Given the description of an element on the screen output the (x, y) to click on. 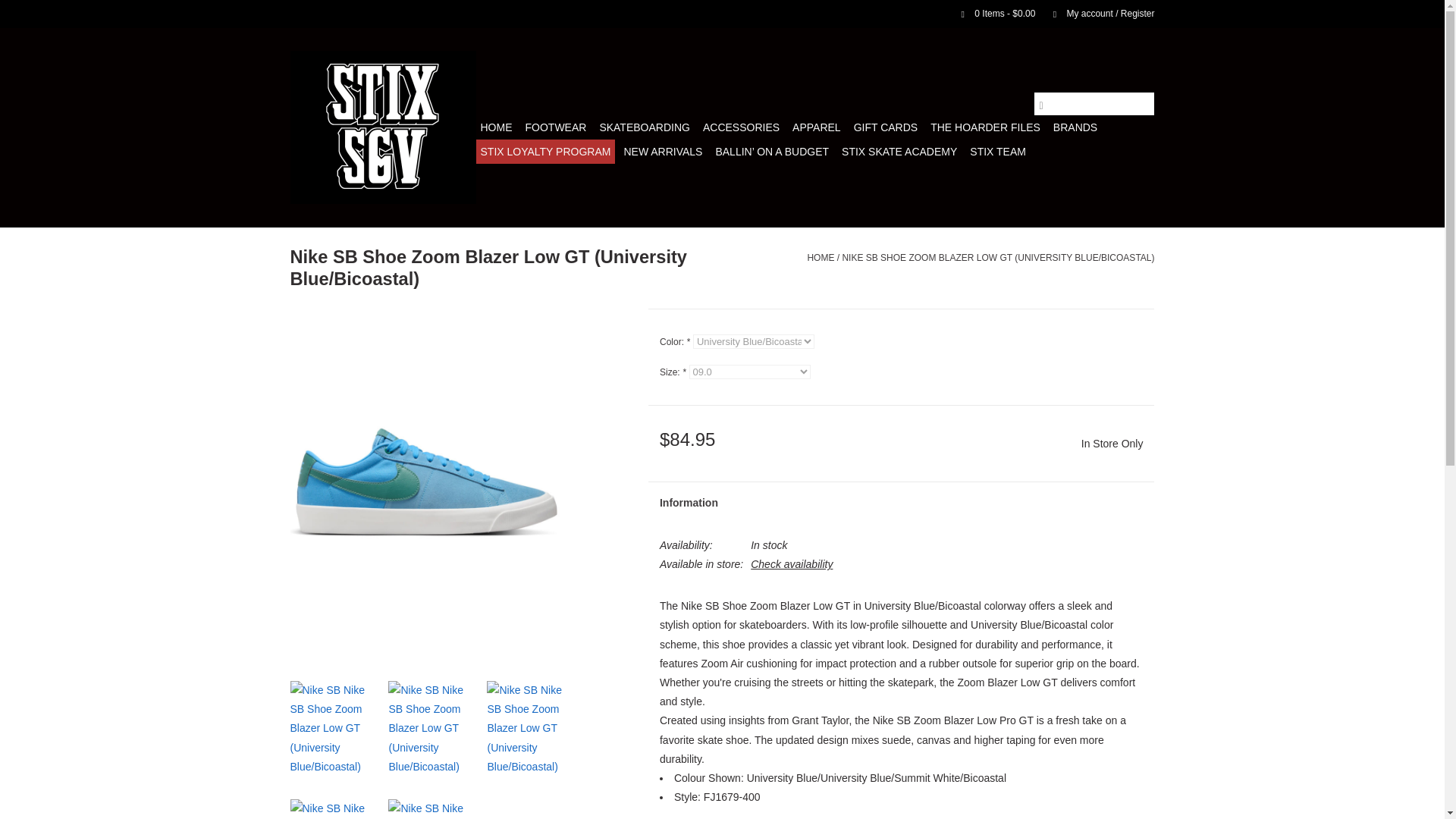
HOME (496, 127)
SKATEBOARDING (644, 127)
My account (1096, 13)
Cart (992, 13)
APPAREL (816, 127)
Footwear (555, 127)
ACCESSORIES (741, 127)
FOOTWEAR (555, 127)
Stix SGV (382, 126)
Skateboarding (644, 127)
